Given the description of an element on the screen output the (x, y) to click on. 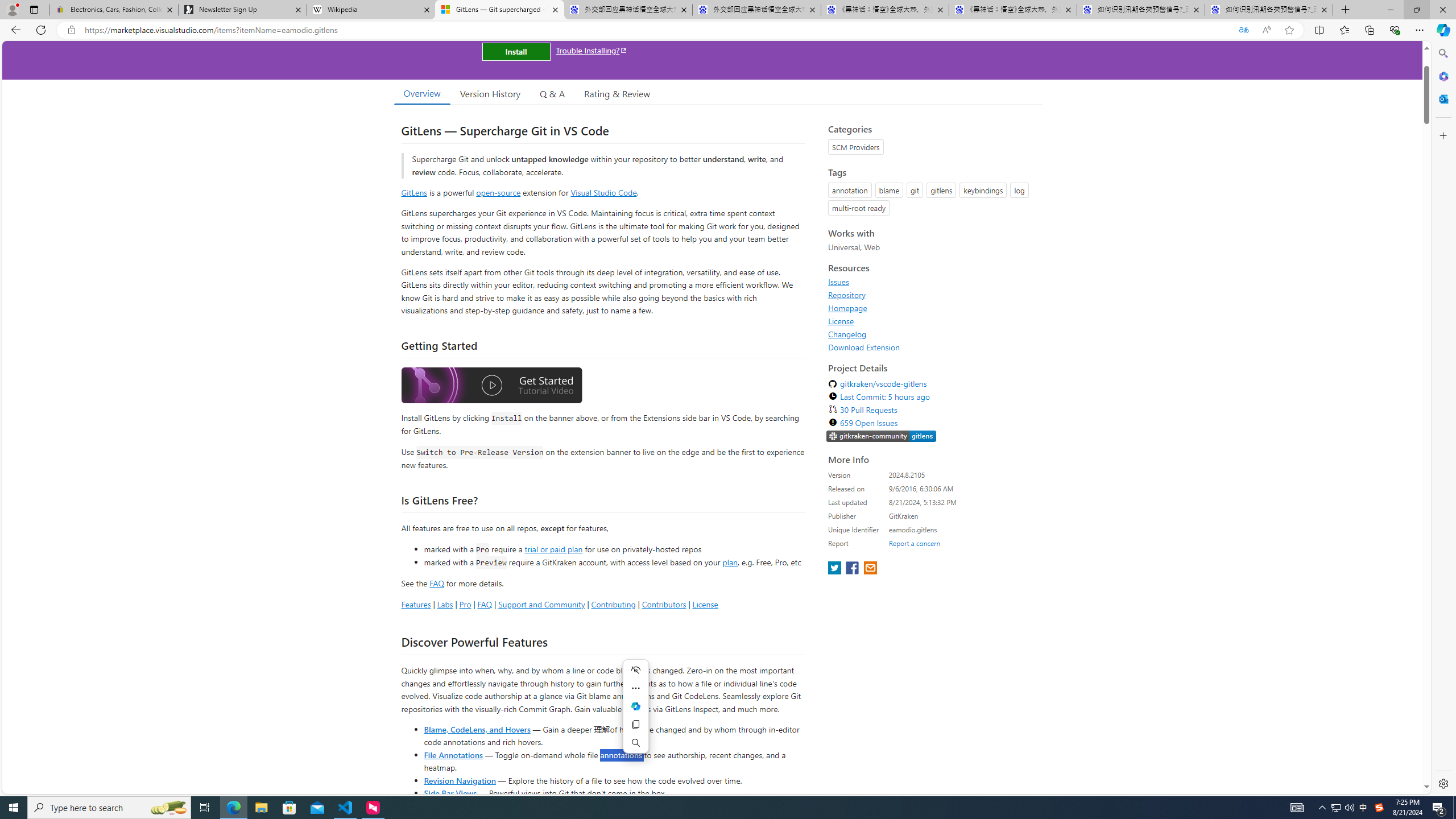
Labs (444, 603)
Revision Navigation (459, 780)
Download Extension (931, 346)
Newsletter Sign Up (242, 9)
Homepage (931, 307)
Repository (847, 294)
trial or paid plan (553, 548)
Mini menu on text selection (635, 706)
